Given the description of an element on the screen output the (x, y) to click on. 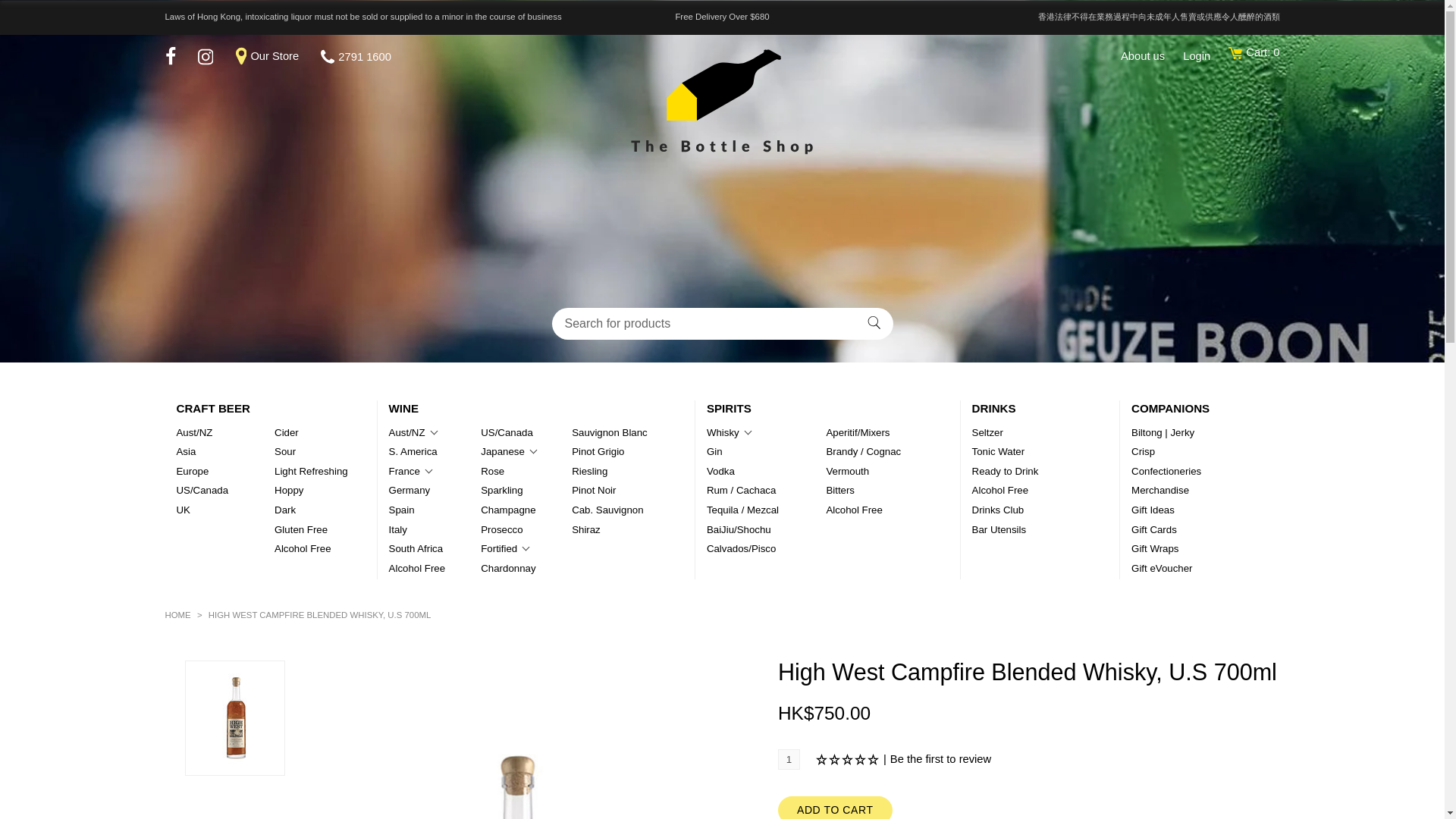
About us (1150, 55)
Alcohol Free (302, 549)
2791 1600 (355, 57)
Sour (285, 452)
Light Refreshing (311, 472)
Dark (285, 510)
WINE (403, 408)
CRAFT BEER (212, 408)
Our Store (276, 55)
Hoppy (288, 490)
